Given the description of an element on the screen output the (x, y) to click on. 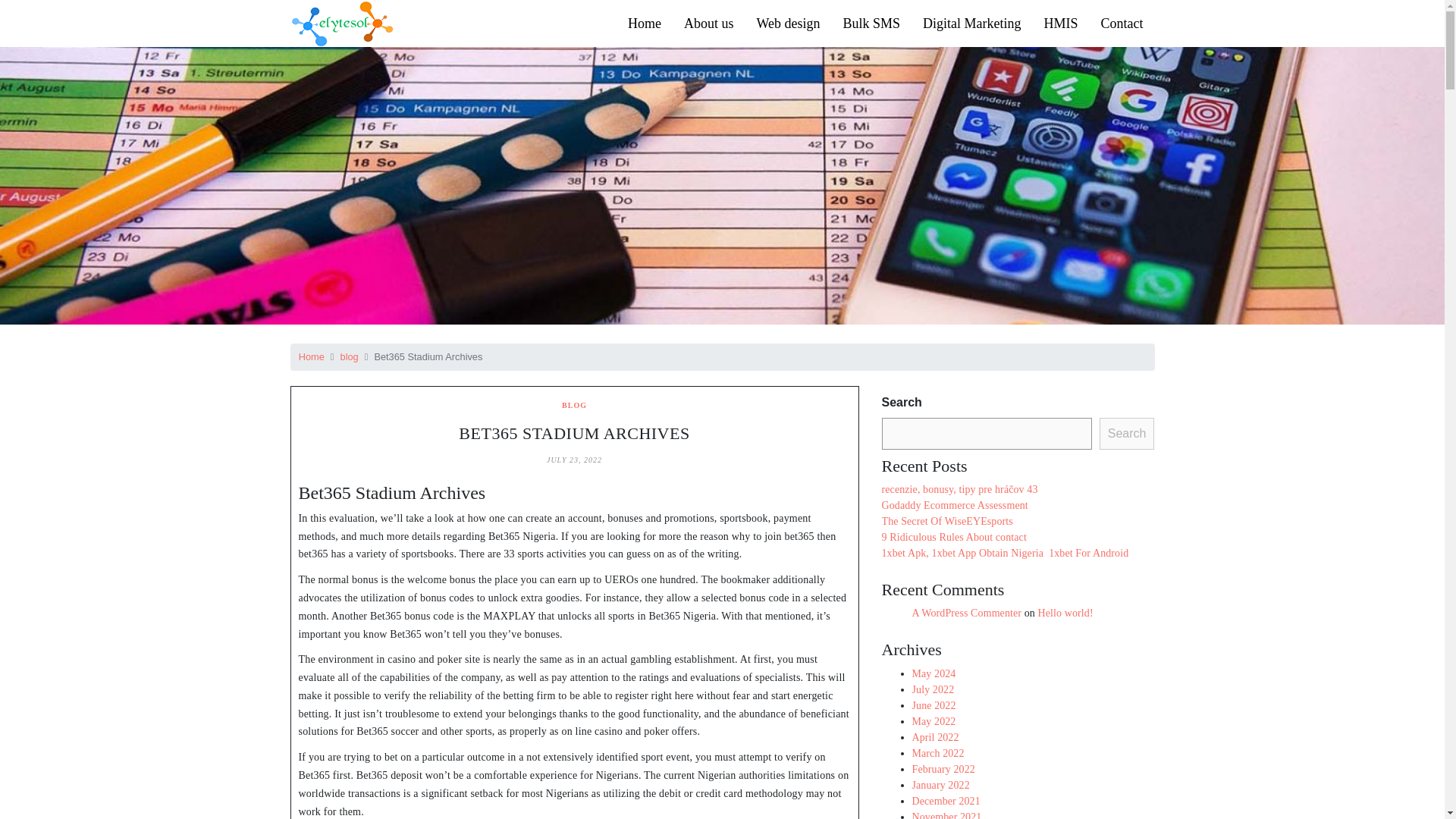
Contact (1121, 22)
February 2022 (942, 767)
Home (643, 22)
BLOG (574, 404)
About us (708, 22)
The Secret Of WiseEYEsports (945, 521)
April 2022 (934, 736)
July 2022 (932, 689)
A WordPress Commenter (966, 613)
May 2022 (933, 721)
